Given the description of an element on the screen output the (x, y) to click on. 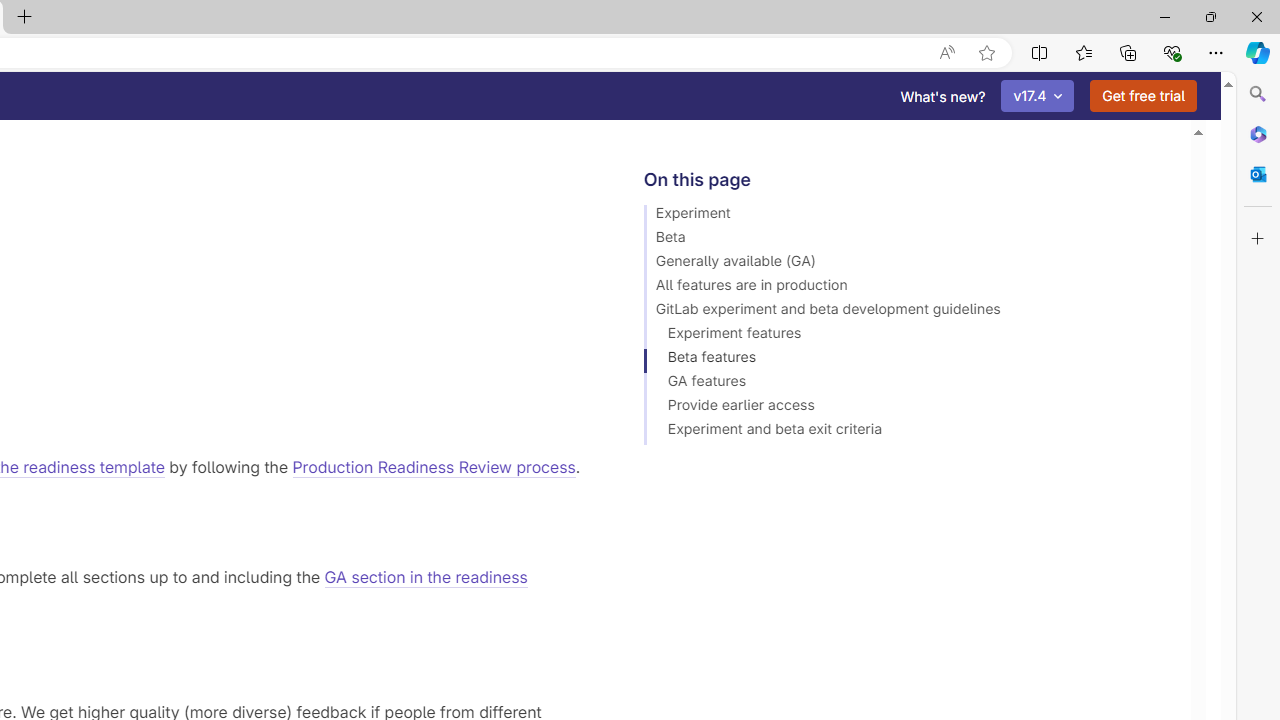
v17.4 (1037, 95)
Beta features (908, 359)
Get free trial (1143, 95)
What's new? (943, 96)
Experiment (908, 215)
Experiment and beta exit criteria (908, 431)
GA features (908, 384)
Beta features (908, 359)
Experiment features (908, 336)
Experiment and beta exit criteria (908, 431)
Beta (908, 240)
